Given the description of an element on the screen output the (x, y) to click on. 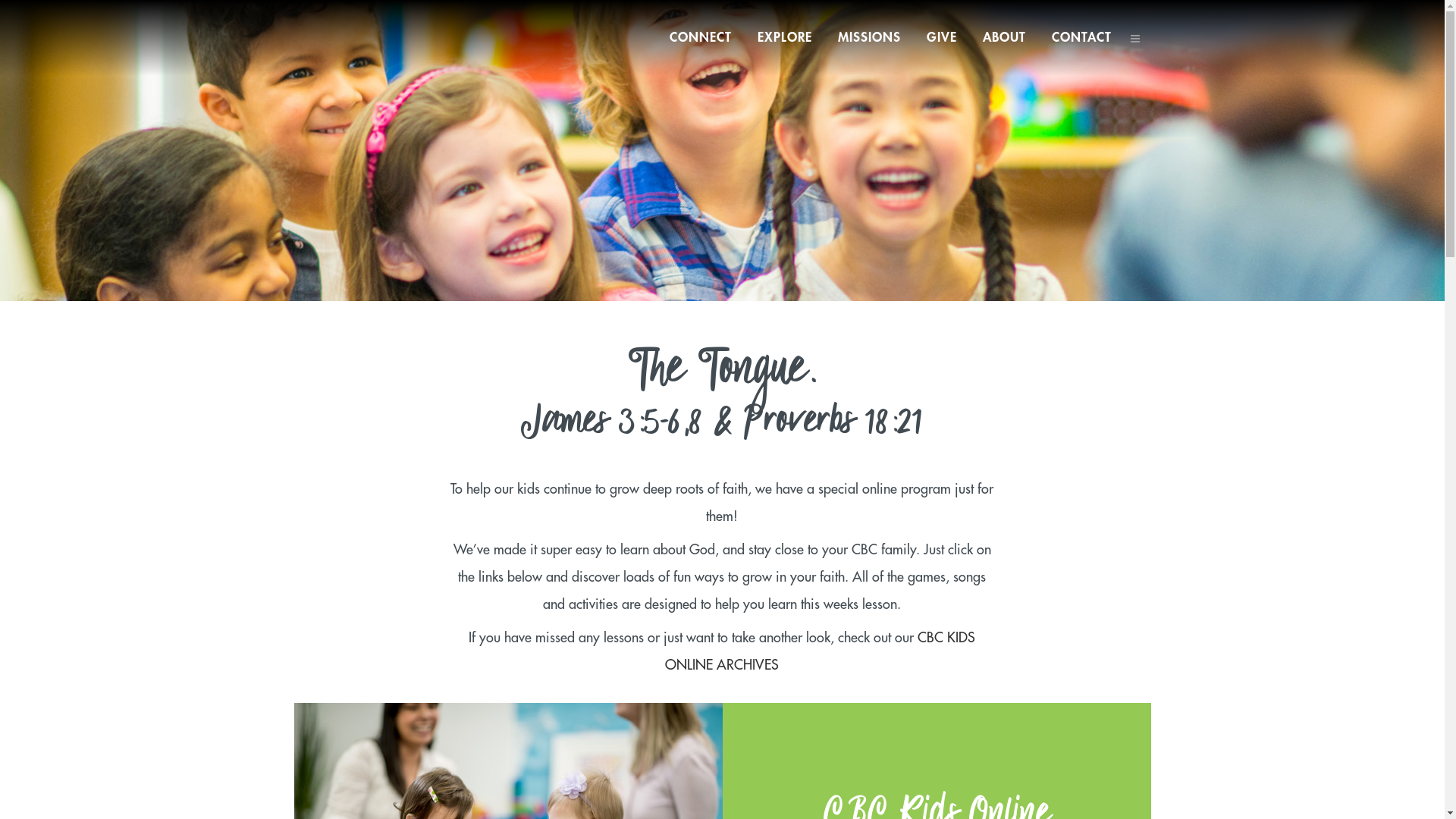
CONNECT Element type: text (700, 37)
EXPLORE Element type: text (784, 37)
GIVE Element type: text (941, 37)
CBC KIDS ONLINE ARCHIVES Element type: text (820, 650)
ABOUT Element type: text (1003, 37)
CONTACT Element type: text (1081, 37)
MISSIONS Element type: text (869, 37)
